Given the description of an element on the screen output the (x, y) to click on. 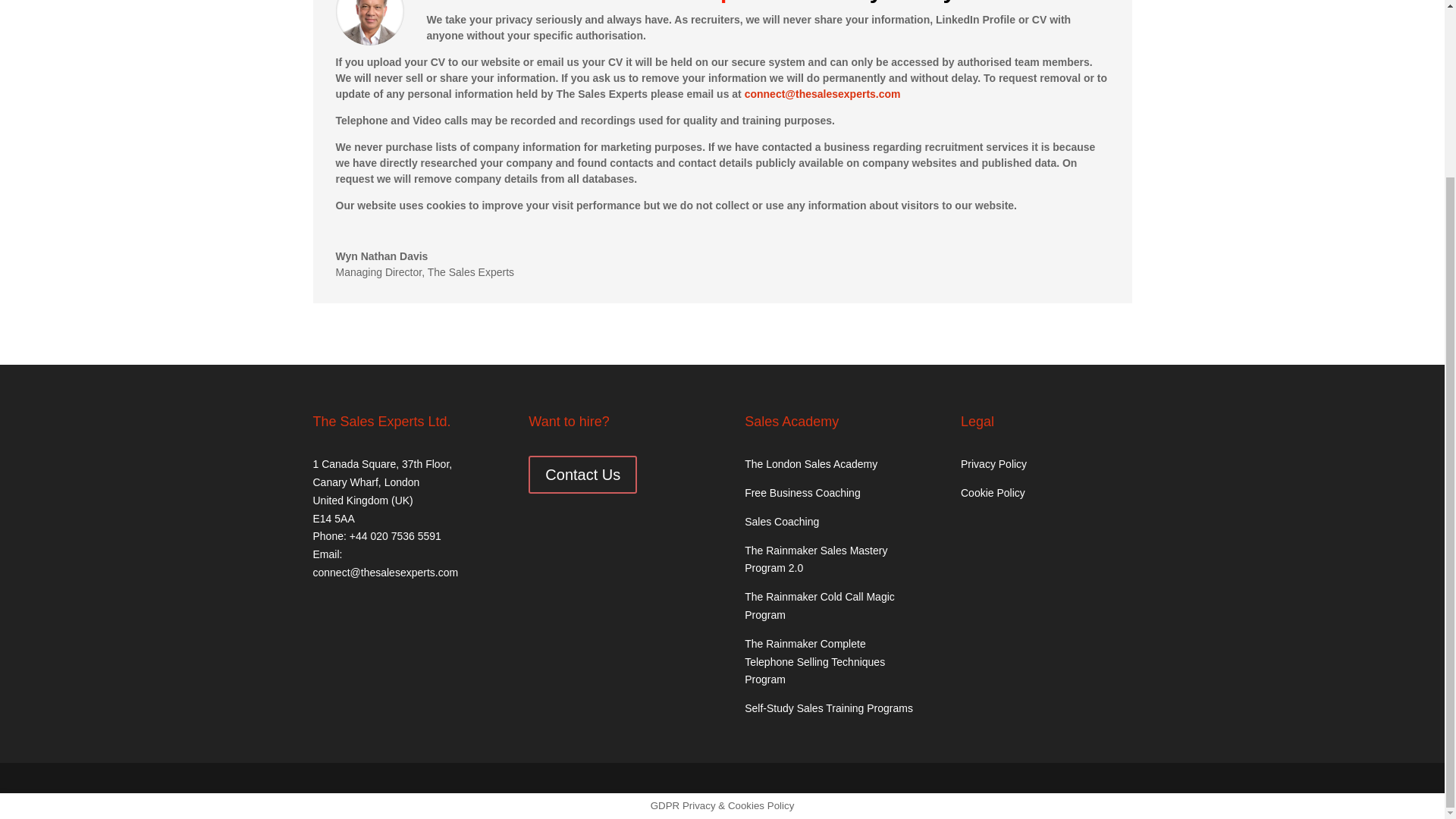
Cookie Policy (992, 492)
Free Business Coaching (802, 492)
The Rainmaker Complete Telephone Selling Techniques Program (814, 662)
Self-Study Sales Training Programs (828, 707)
Sales Coaching (781, 521)
Privacy Policy (993, 463)
The Rainmaker Cold Call Magic Program (819, 605)
The Rainmaker Sales Mastery Program 2.0 (815, 559)
The London Sales Academy (810, 463)
Contact Us (582, 474)
